Given the description of an element on the screen output the (x, y) to click on. 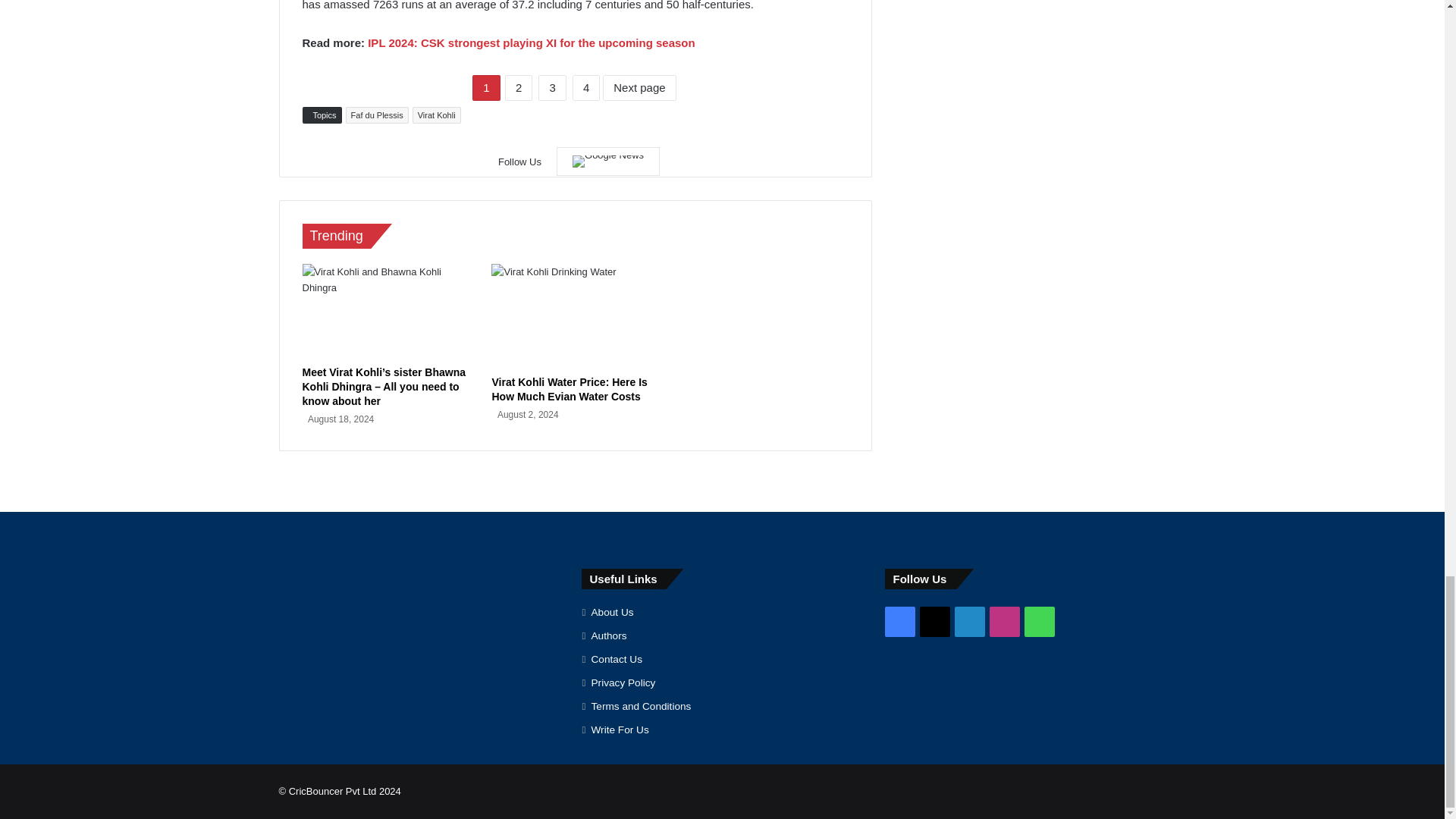
Virat Kohli Water Price: Here Is How Much Evian Water Costs (569, 388)
Google News (607, 161)
Virat Kohli (436, 115)
3 (552, 87)
Next page (638, 87)
4 (585, 87)
Faf du Plessis (377, 115)
IPL 2024: CSK strongest playing XI for the upcoming season (531, 42)
2 (518, 87)
